Given the description of an element on the screen output the (x, y) to click on. 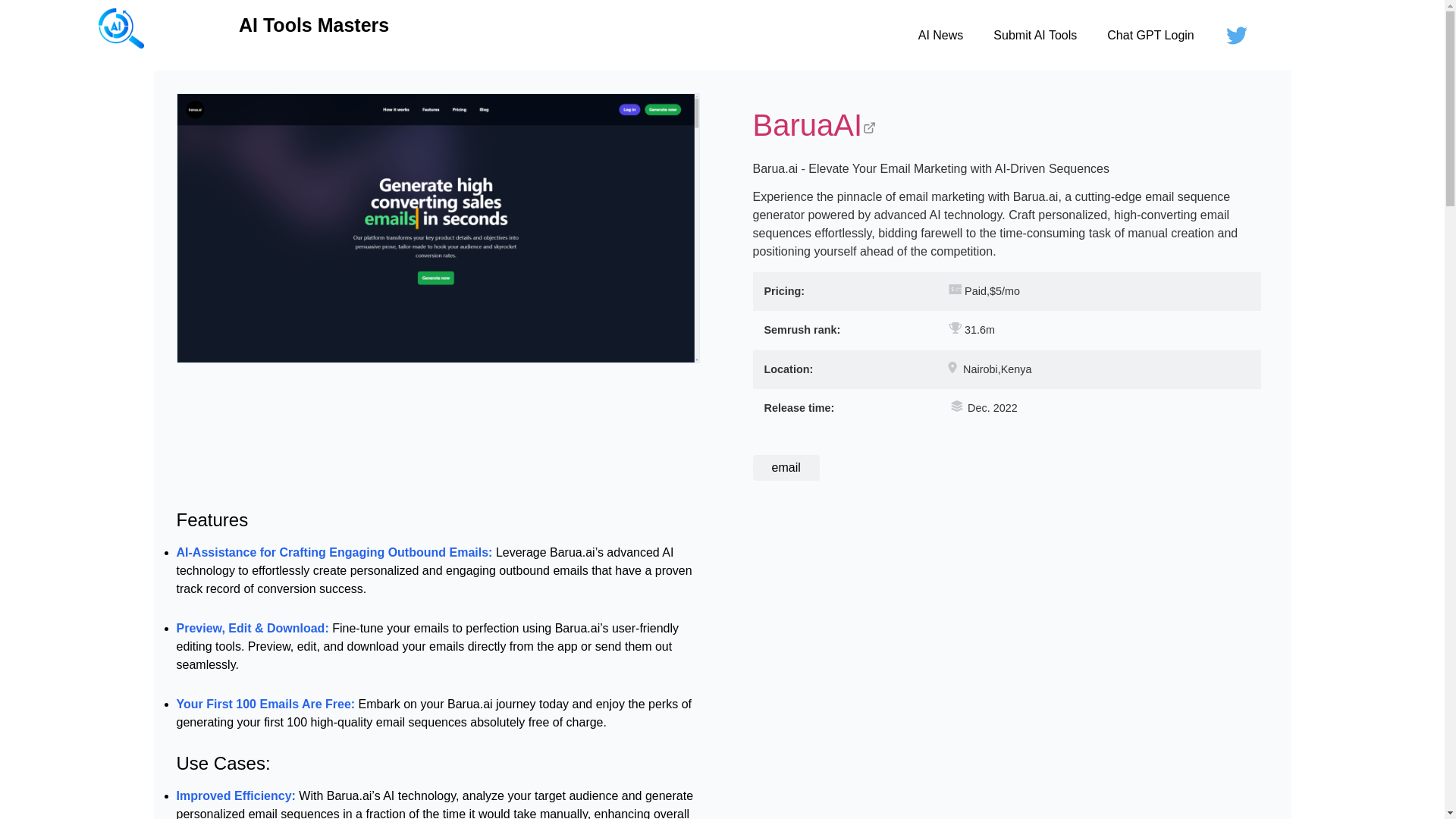
AI News (940, 35)
AI Tools Masters (313, 25)
BaruaAI (1006, 127)
Chat GPT Login (1150, 35)
email (785, 467)
Submit AI Tools (1035, 35)
